Given the description of an element on the screen output the (x, y) to click on. 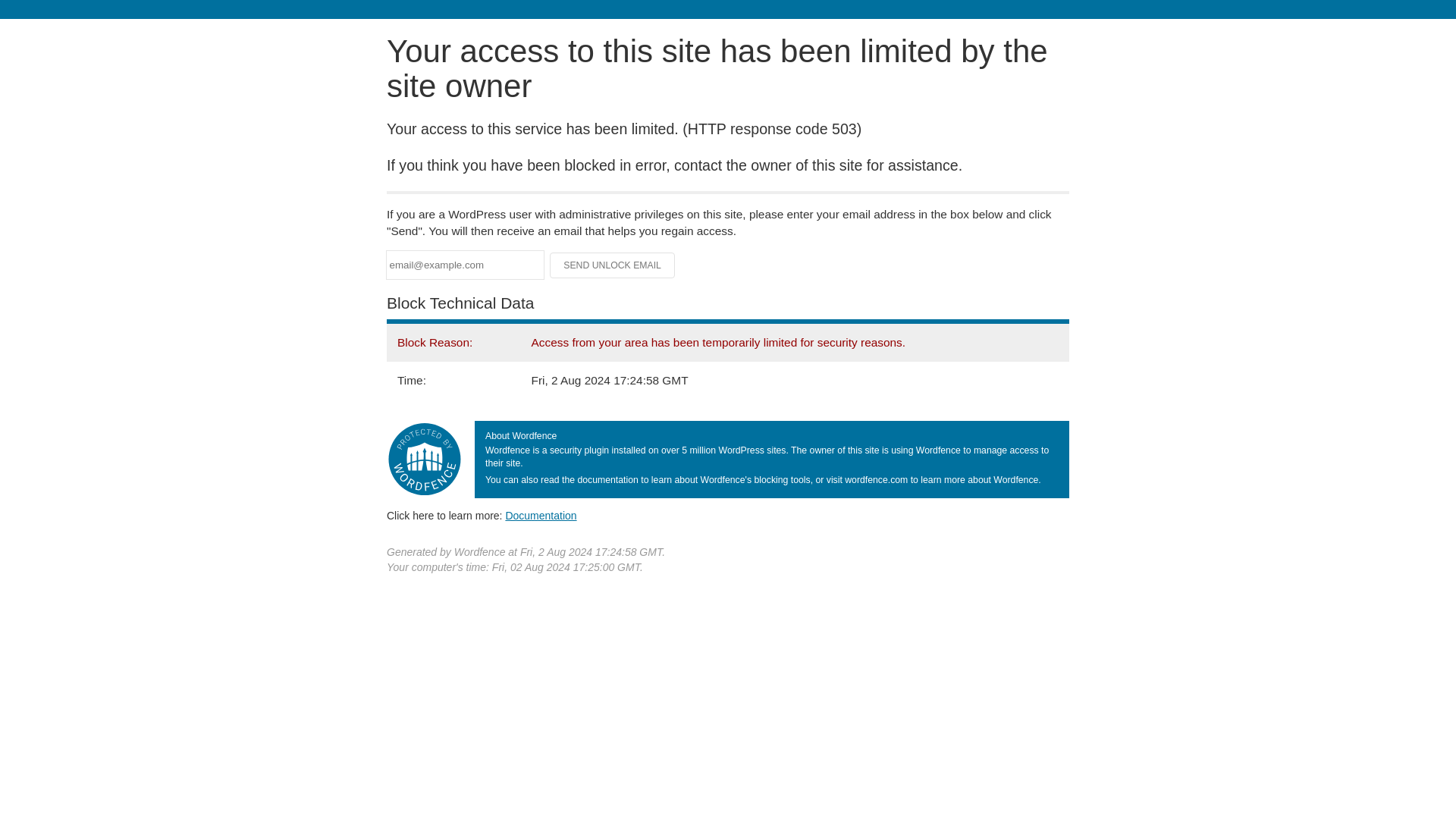
Send Unlock Email (612, 265)
Documentation (540, 515)
Send Unlock Email (612, 265)
